Given the description of an element on the screen output the (x, y) to click on. 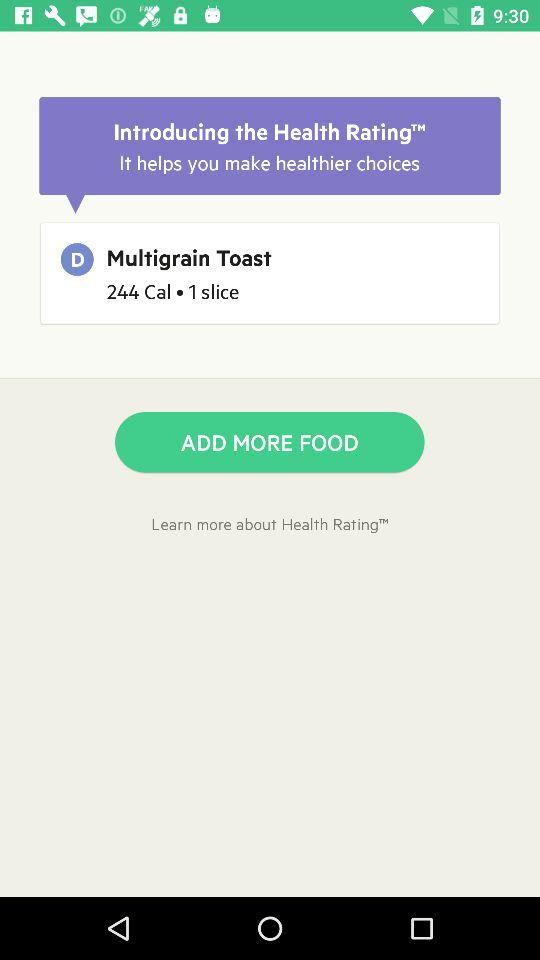
turn on the learn more about (269, 523)
